Given the description of an element on the screen output the (x, y) to click on. 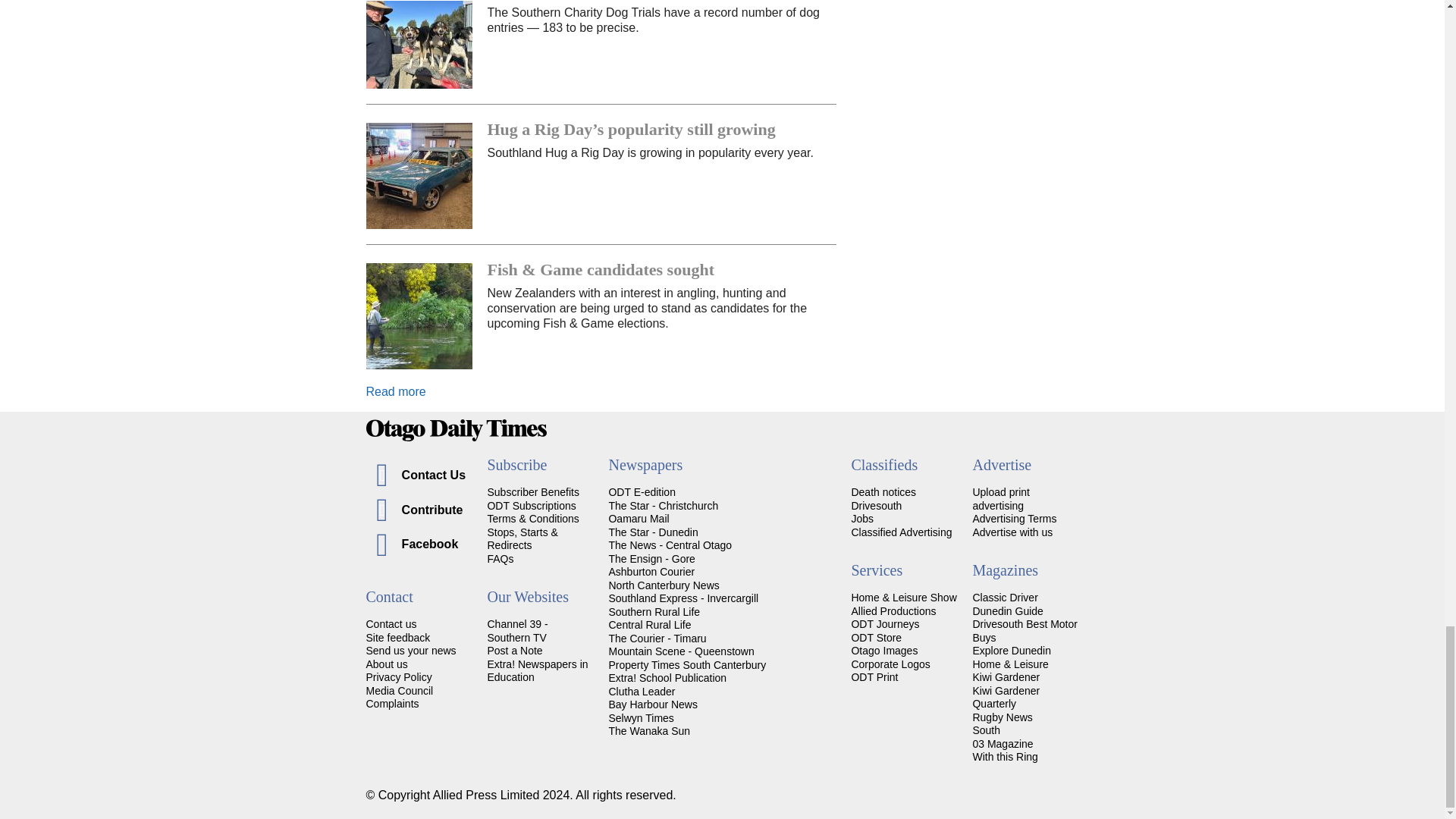
Ways to subscribe to the Otago Daily Times (530, 505)
Get in touch (390, 623)
Let us know what you think (397, 637)
Get the ODT delivered right to you! (532, 491)
Home (721, 430)
Send us your news and photos. (410, 650)
